Given the description of an element on the screen output the (x, y) to click on. 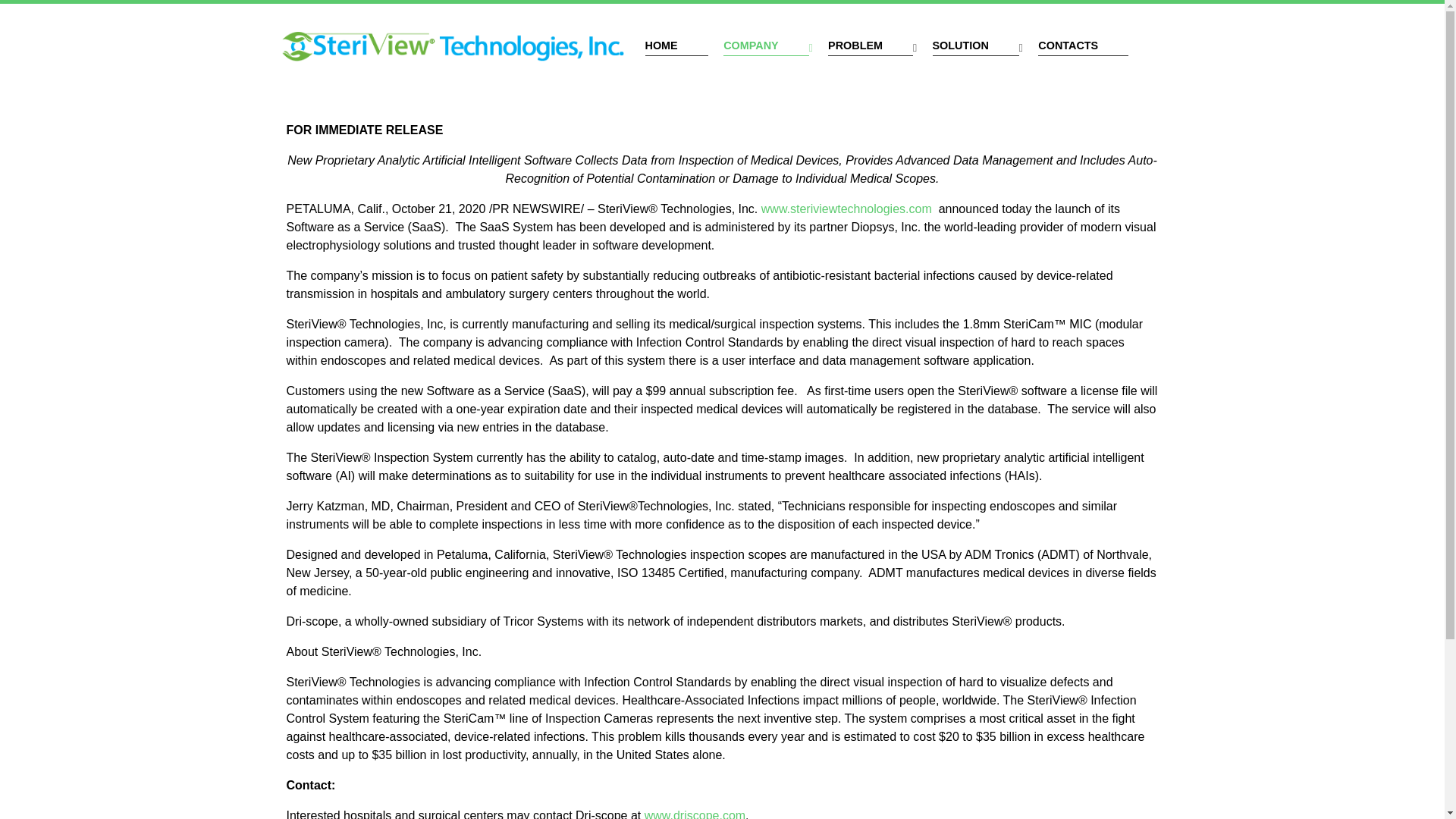
SOLUTION (978, 46)
PROBLEM (872, 46)
HOME (676, 45)
COMPANY (767, 46)
CONTACTS (1083, 45)
www.steriviewtechnologies.com (846, 207)
www.driscope.com (695, 813)
